Given the description of an element on the screen output the (x, y) to click on. 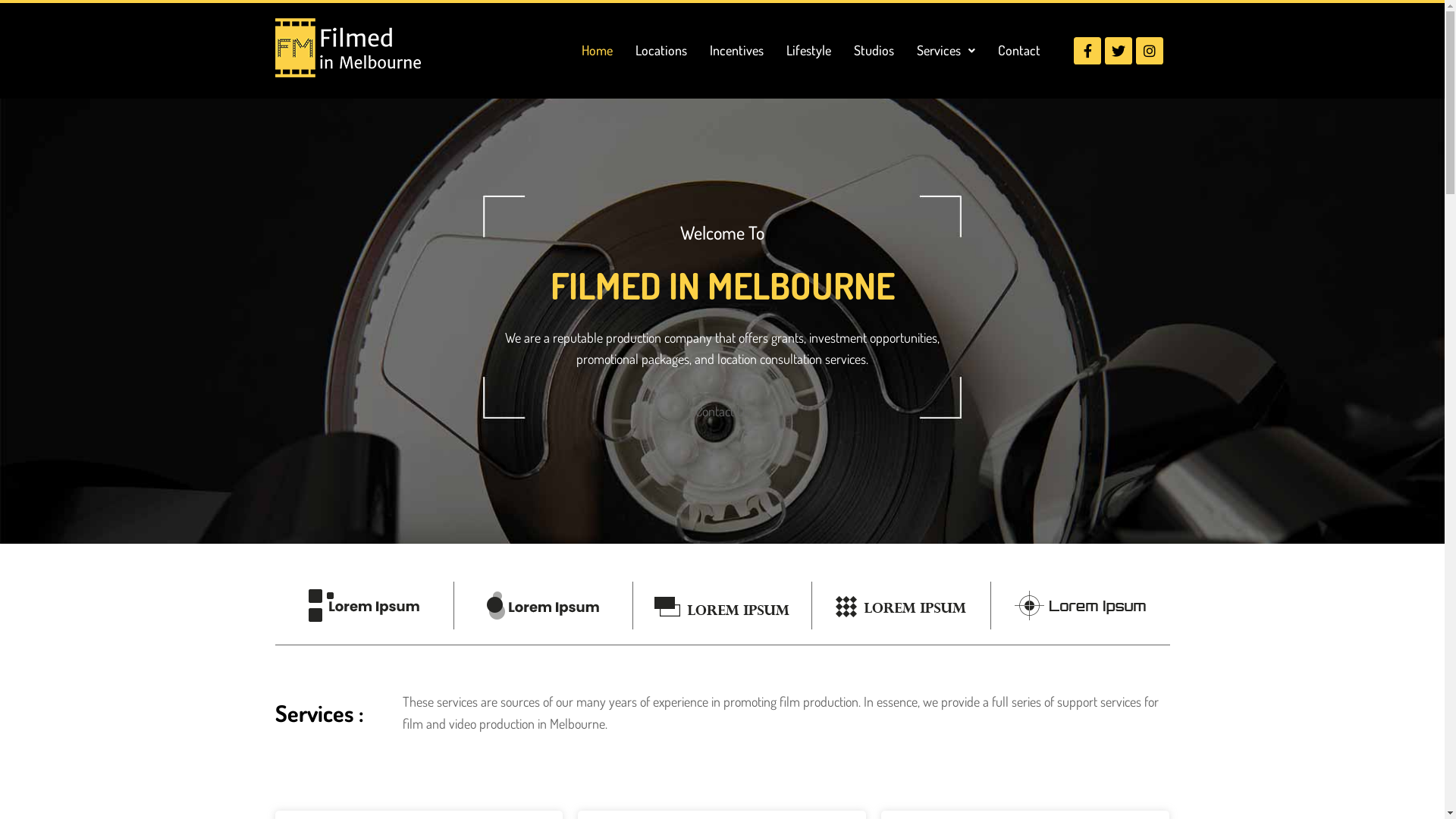
Locations Element type: text (660, 50)
Incentives Element type: text (735, 50)
Contact Element type: text (1018, 50)
Home Element type: text (597, 50)
Lifestyle Element type: text (808, 50)
Services Element type: text (945, 50)
Studios Element type: text (872, 50)
